Given the description of an element on the screen output the (x, y) to click on. 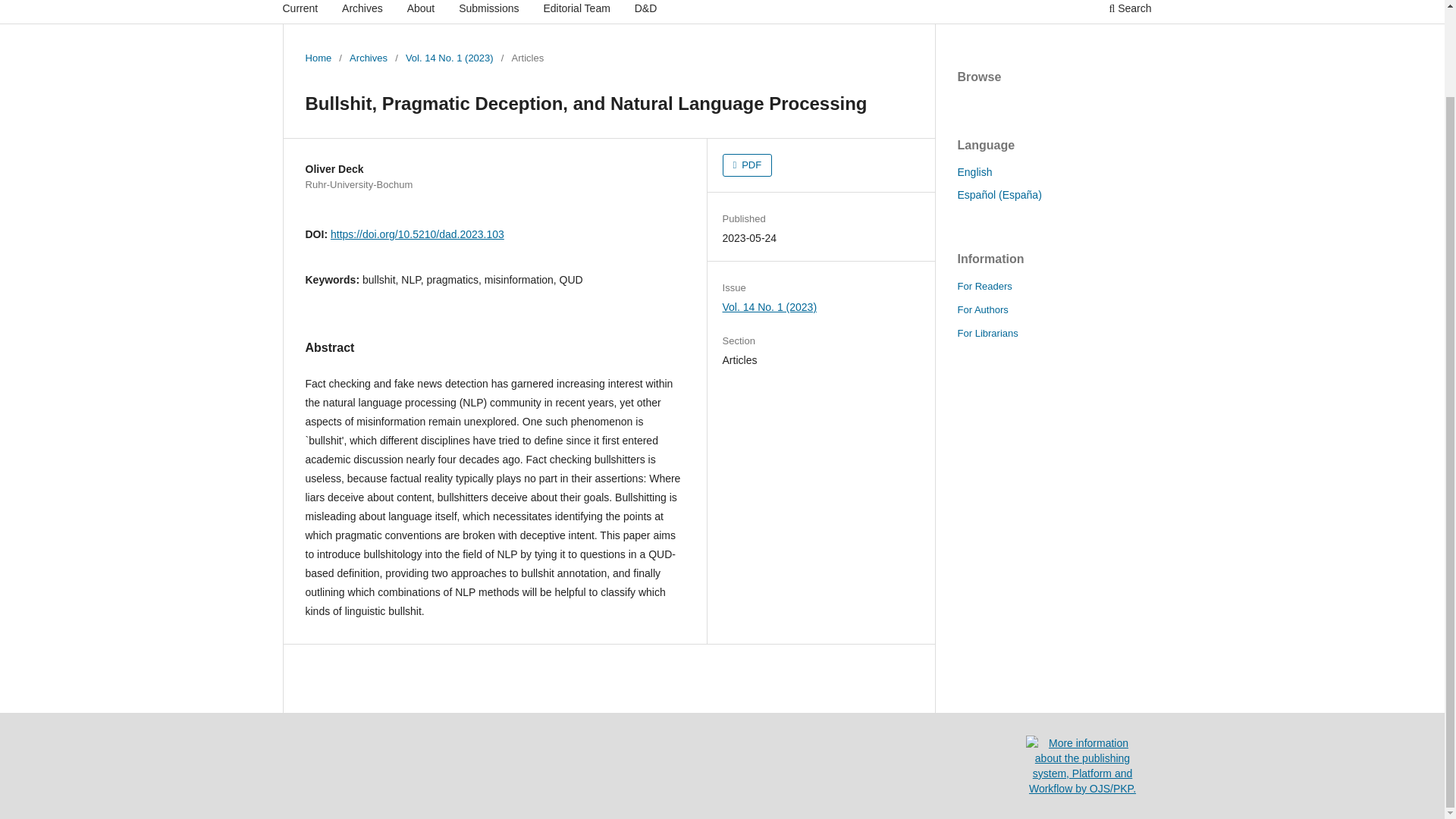
English (973, 172)
For Librarians (986, 333)
Editorial Team (575, 11)
PDF (747, 164)
About (421, 11)
For Readers (983, 285)
For Authors (981, 309)
Archives (368, 58)
Archives (362, 11)
Current (300, 11)
Submissions (488, 11)
Search (1129, 11)
Home (317, 58)
